Given the description of an element on the screen output the (x, y) to click on. 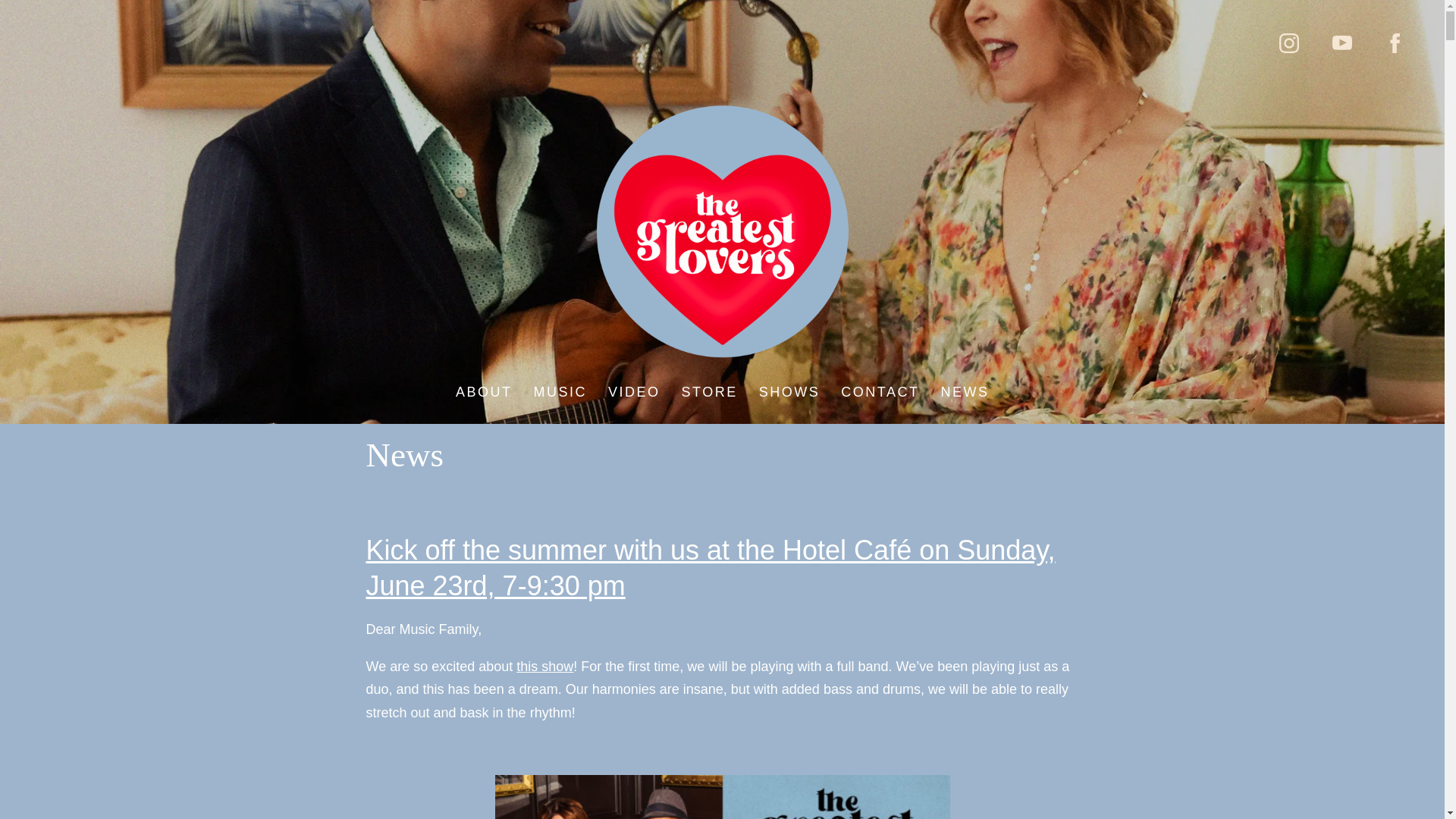
this show (544, 666)
SHOWS (789, 392)
NEWS (964, 392)
VIDEO (633, 392)
STORE (709, 392)
CONTACT (880, 392)
MUSIC (559, 392)
ABOUT (483, 392)
